Given the description of an element on the screen output the (x, y) to click on. 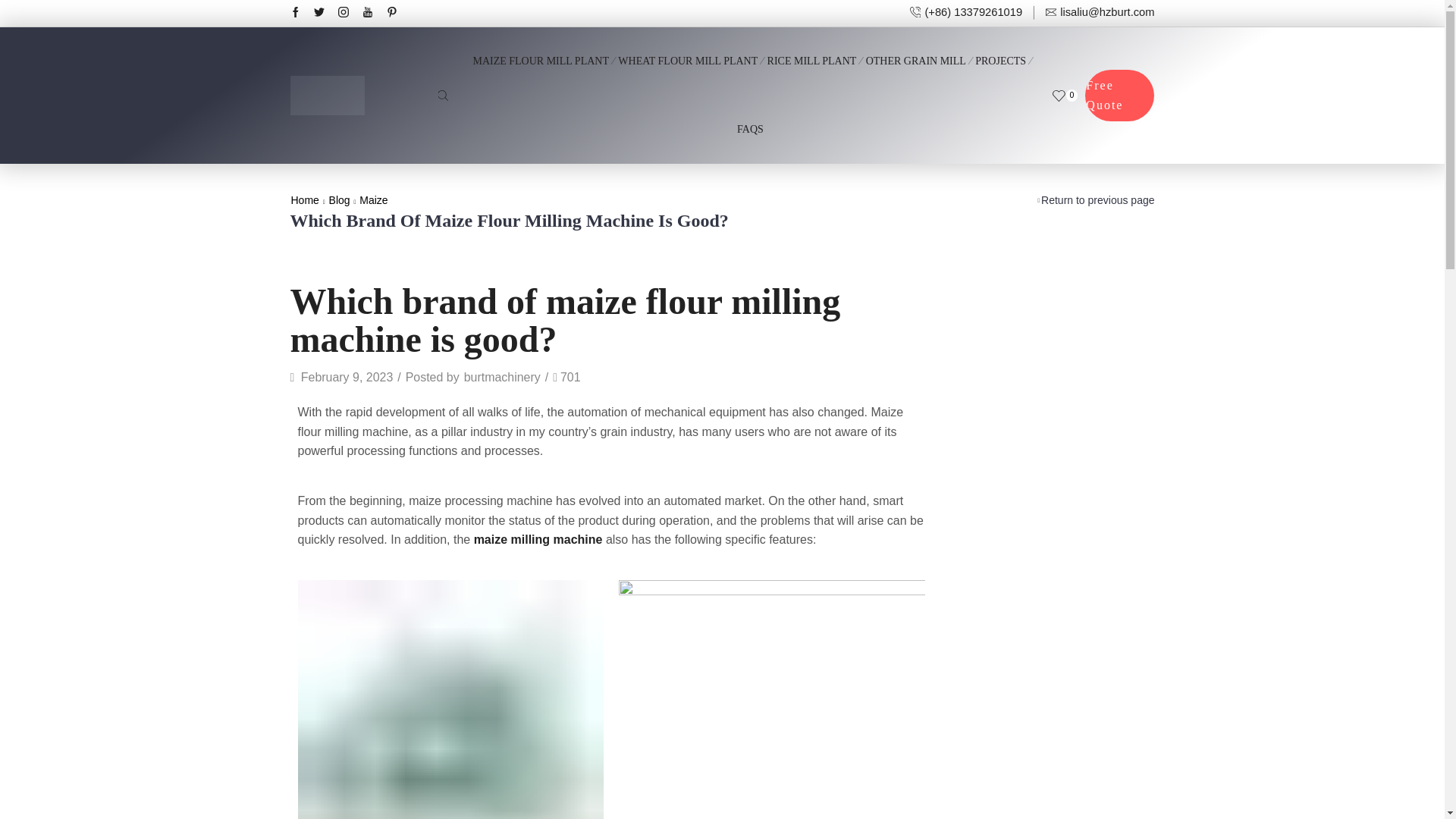
0 (1065, 95)
Posts by burtmachinery (502, 377)
FAQS (749, 117)
Youtube (367, 12)
Free Quote (1119, 94)
Facebook (294, 12)
OTHER GRAIN MILL (916, 49)
Pinterest (392, 12)
Twitter (319, 12)
WHEAT FLOUR MILL PLANT (687, 49)
RICE MILL PLANT (812, 49)
Instagram (343, 12)
MAIZE FLOUR MILL PLANT (539, 49)
PROJECTS (1000, 49)
